Given the description of an element on the screen output the (x, y) to click on. 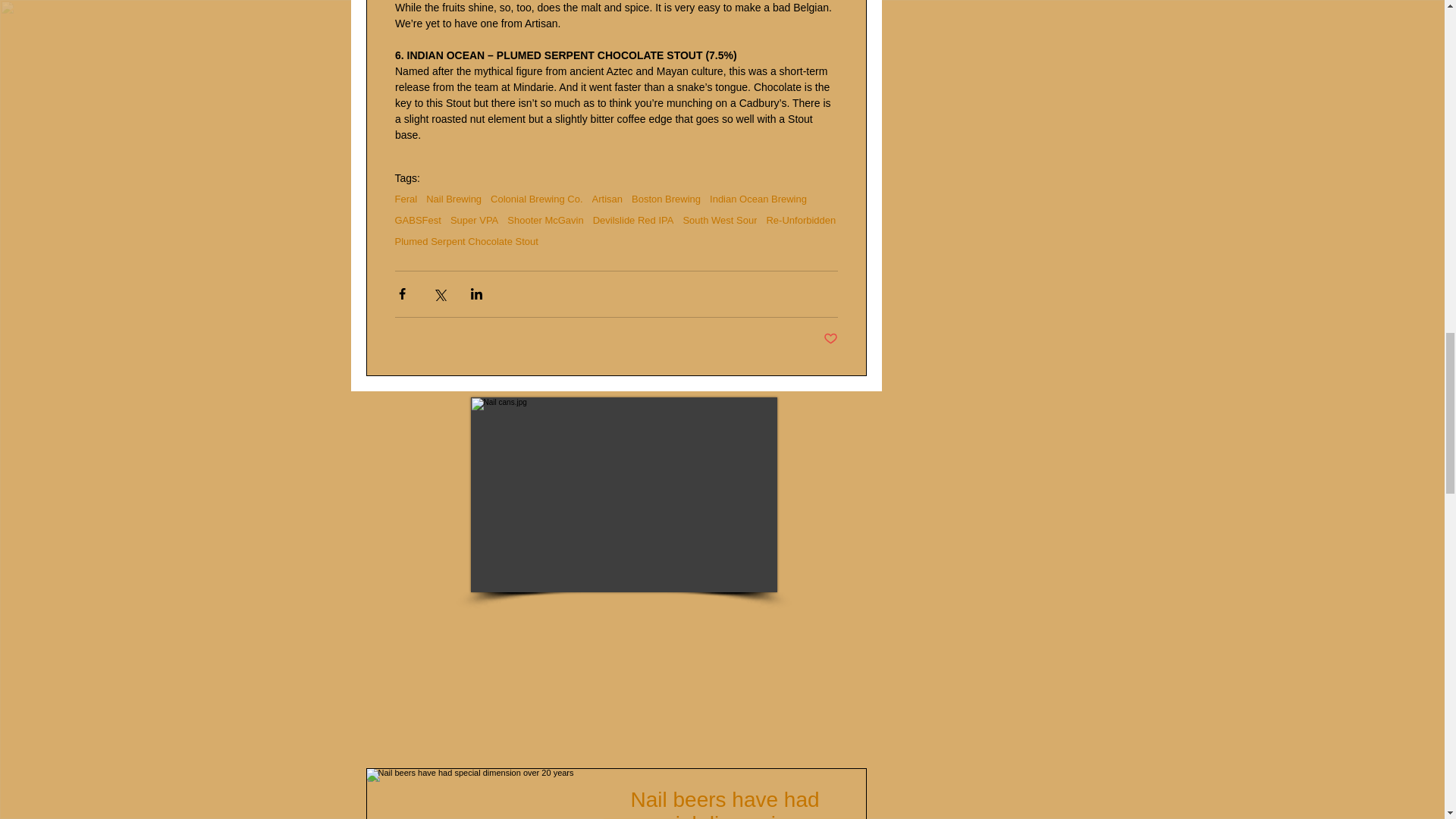
GABSFest (417, 220)
Colonial Brewing Co. (536, 198)
Feral (405, 198)
Nail Brewing (453, 198)
Plumed Serpent Chocolate Stout (465, 241)
Devilslide Red IPA (633, 220)
Super VPA (473, 220)
South West Sour (719, 220)
Post not marked as liked (831, 339)
Re-Unforbidden (800, 220)
Shooter McGavin (544, 220)
Artisan (607, 198)
Indian Ocean Brewing (758, 198)
Nail beers have had special dimension over 20 years (734, 803)
Boston Brewing (665, 198)
